Given the description of an element on the screen output the (x, y) to click on. 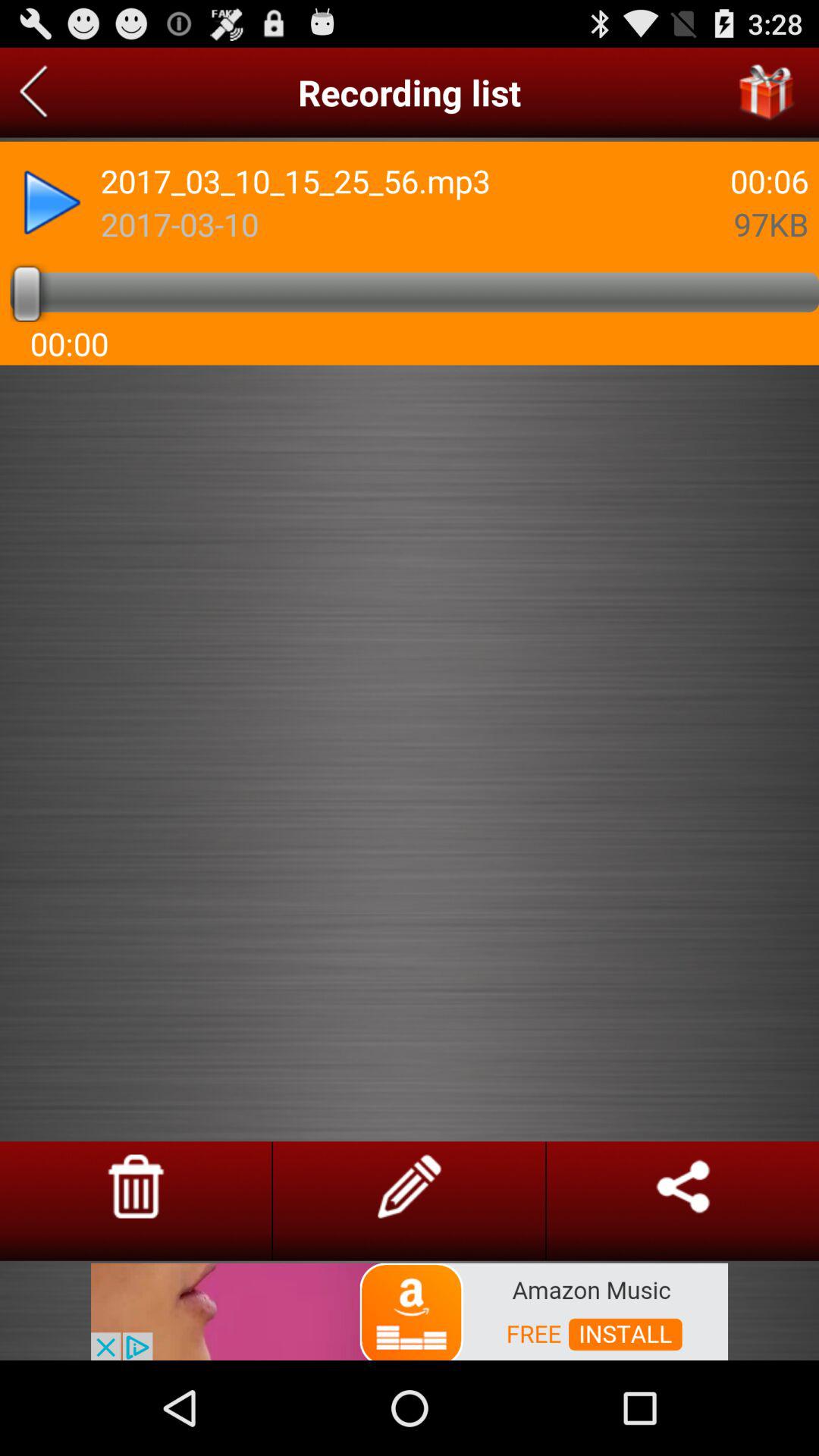
share (682, 1186)
